Given the description of an element on the screen output the (x, y) to click on. 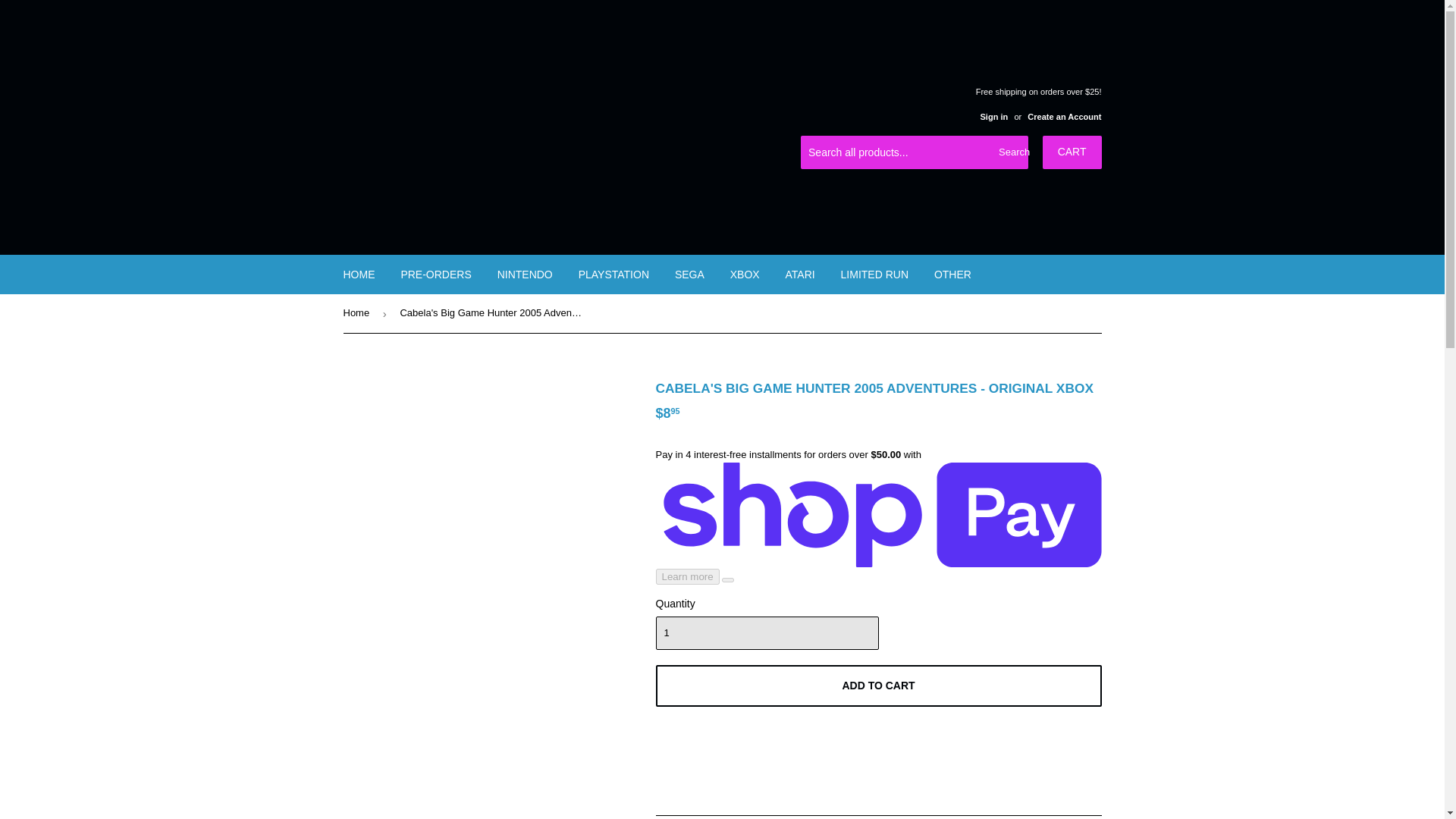
Create an Account (1063, 116)
CART (1072, 151)
Search (1010, 152)
1 (766, 633)
Sign in (993, 116)
